Given the description of an element on the screen output the (x, y) to click on. 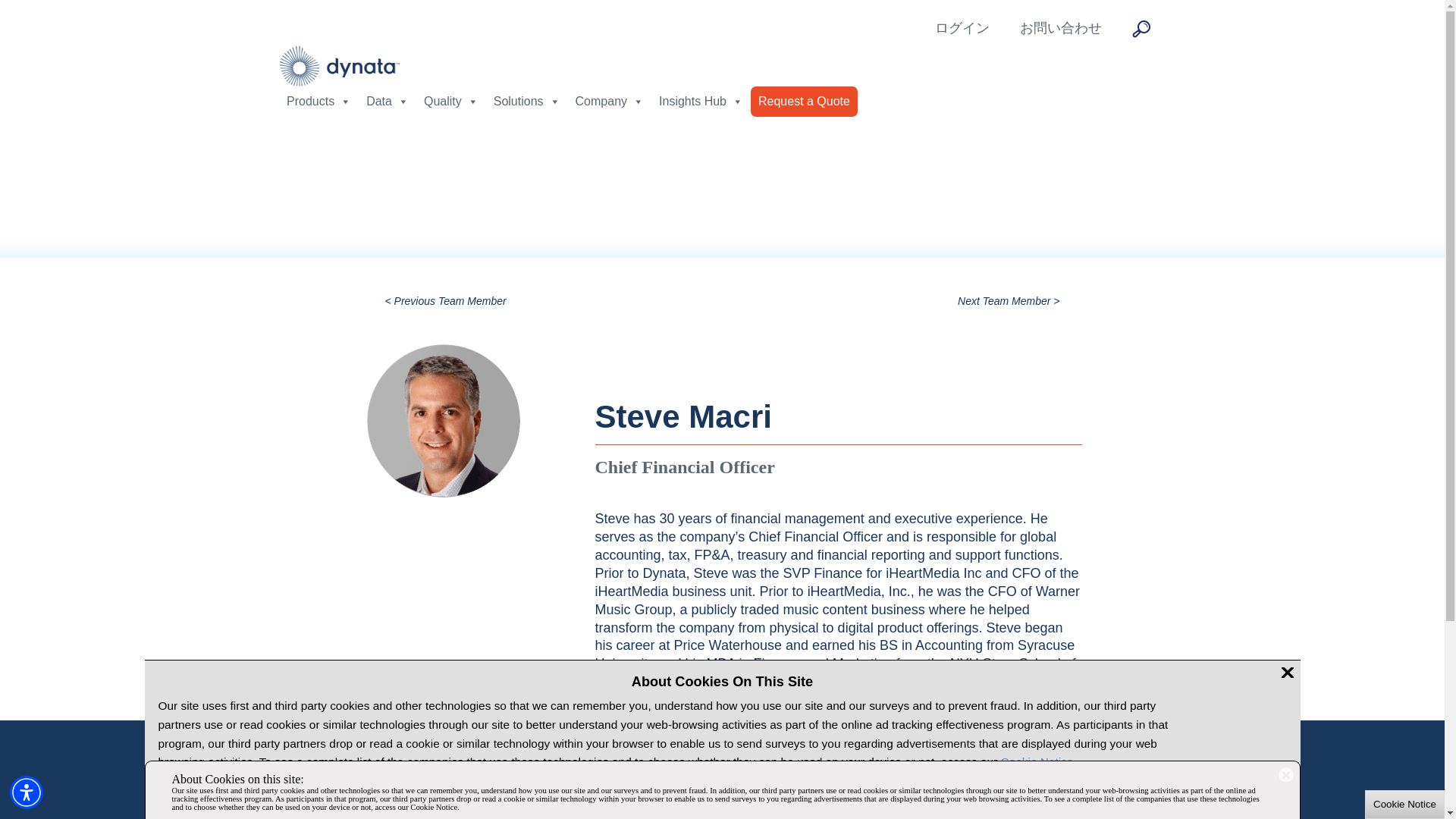
Company (608, 101)
Accessibility Menu (26, 792)
Dynata (339, 64)
Solutions (526, 101)
Brad Brockhaug (1008, 300)
Insights Hub (700, 101)
Quality (451, 101)
Products (318, 101)
Mike Petrullo (445, 300)
Data (387, 101)
